Given the description of an element on the screen output the (x, y) to click on. 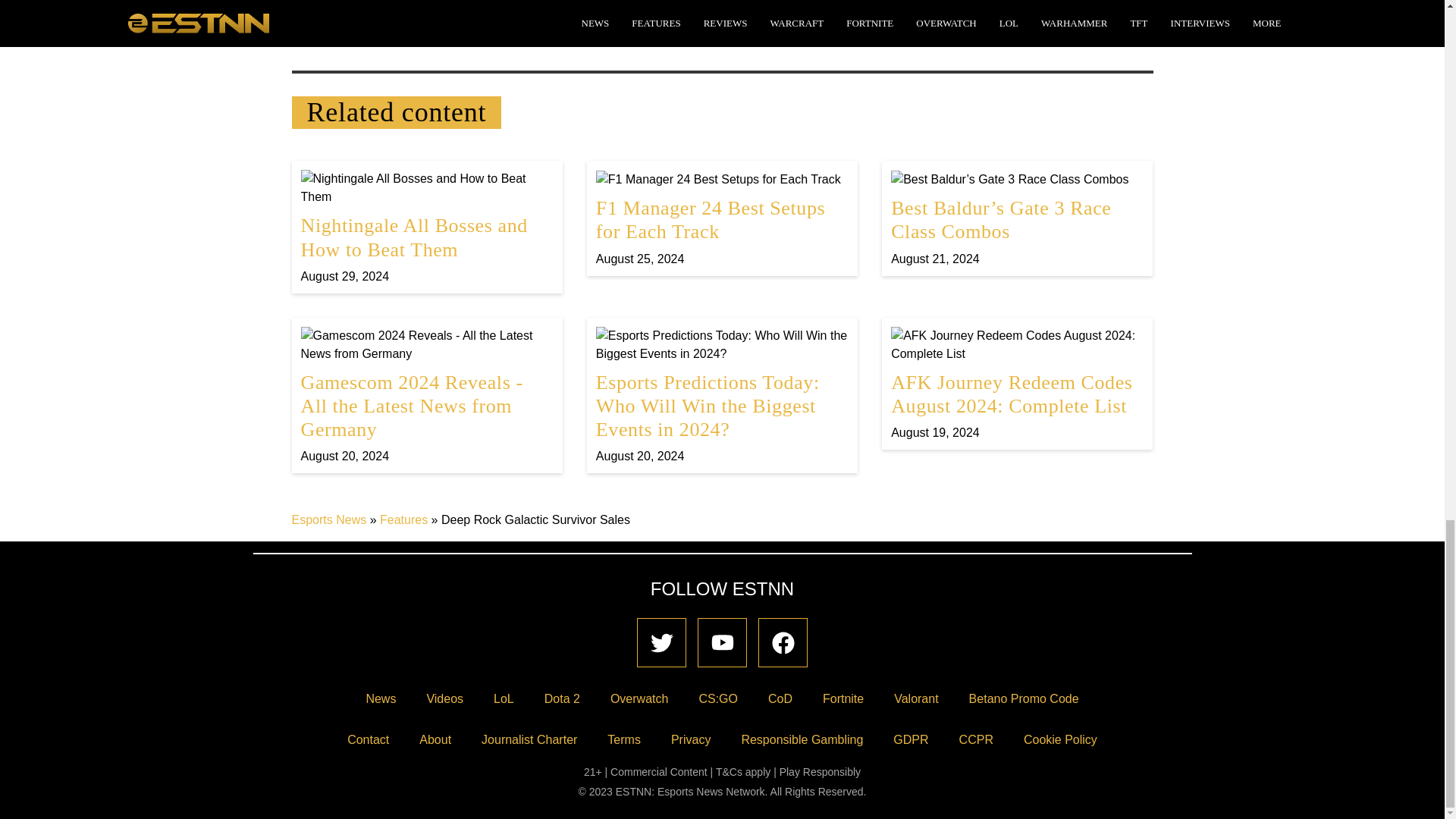
LoL (504, 698)
News (380, 698)
Gamescom 2024 Reveals - All the Latest News from Germany (426, 395)
Nightingale All Bosses and How to Beat Them (426, 226)
AFK Journey Redeem Codes August 2024: Complete List (1016, 383)
Features (404, 519)
Esports News (328, 519)
Dota 2 (562, 698)
